Given the description of an element on the screen output the (x, y) to click on. 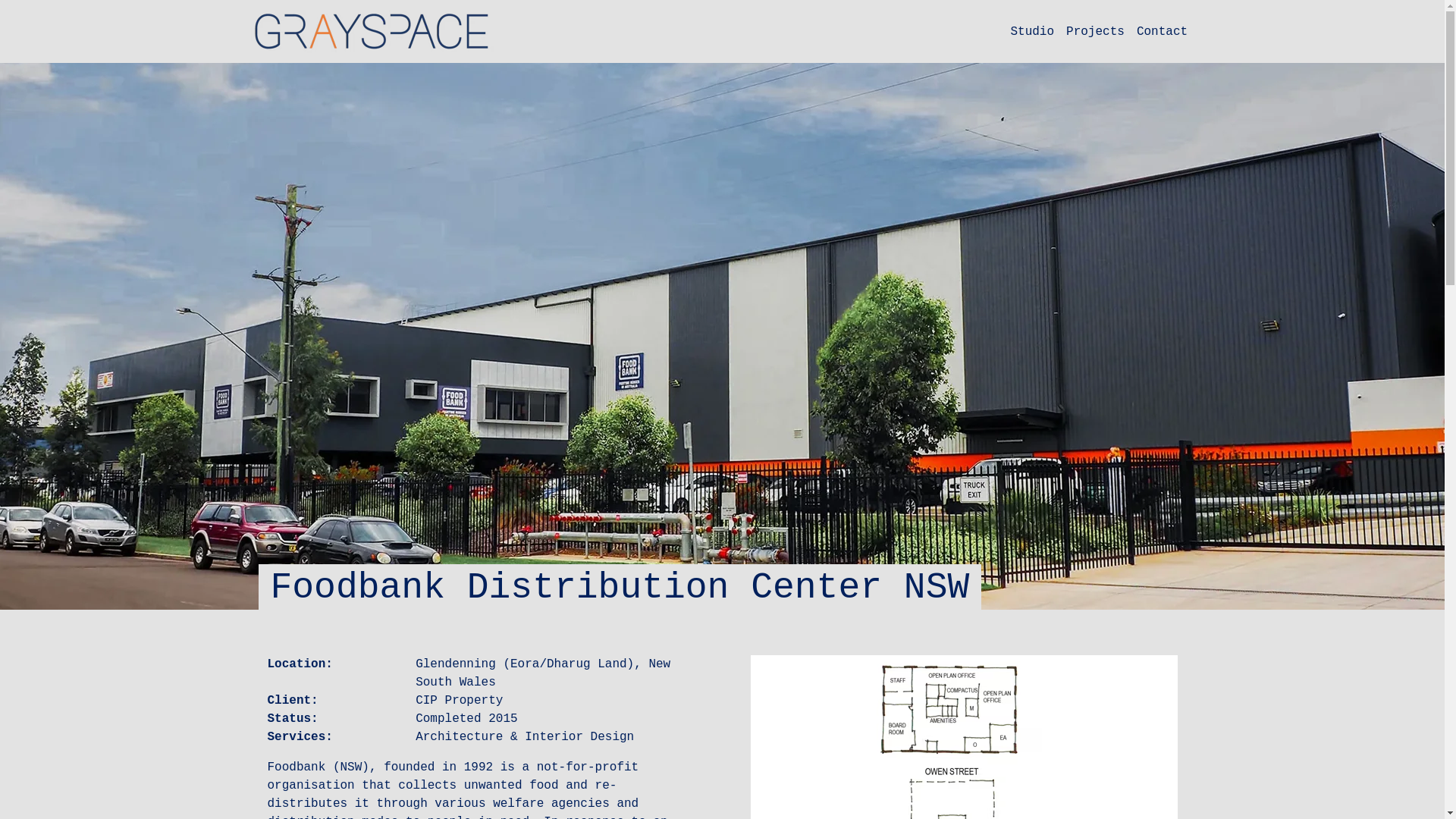
Contact Element type: text (1161, 31)
Projects Element type: text (1095, 31)
Studio Element type: text (1032, 31)
